Given the description of an element on the screen output the (x, y) to click on. 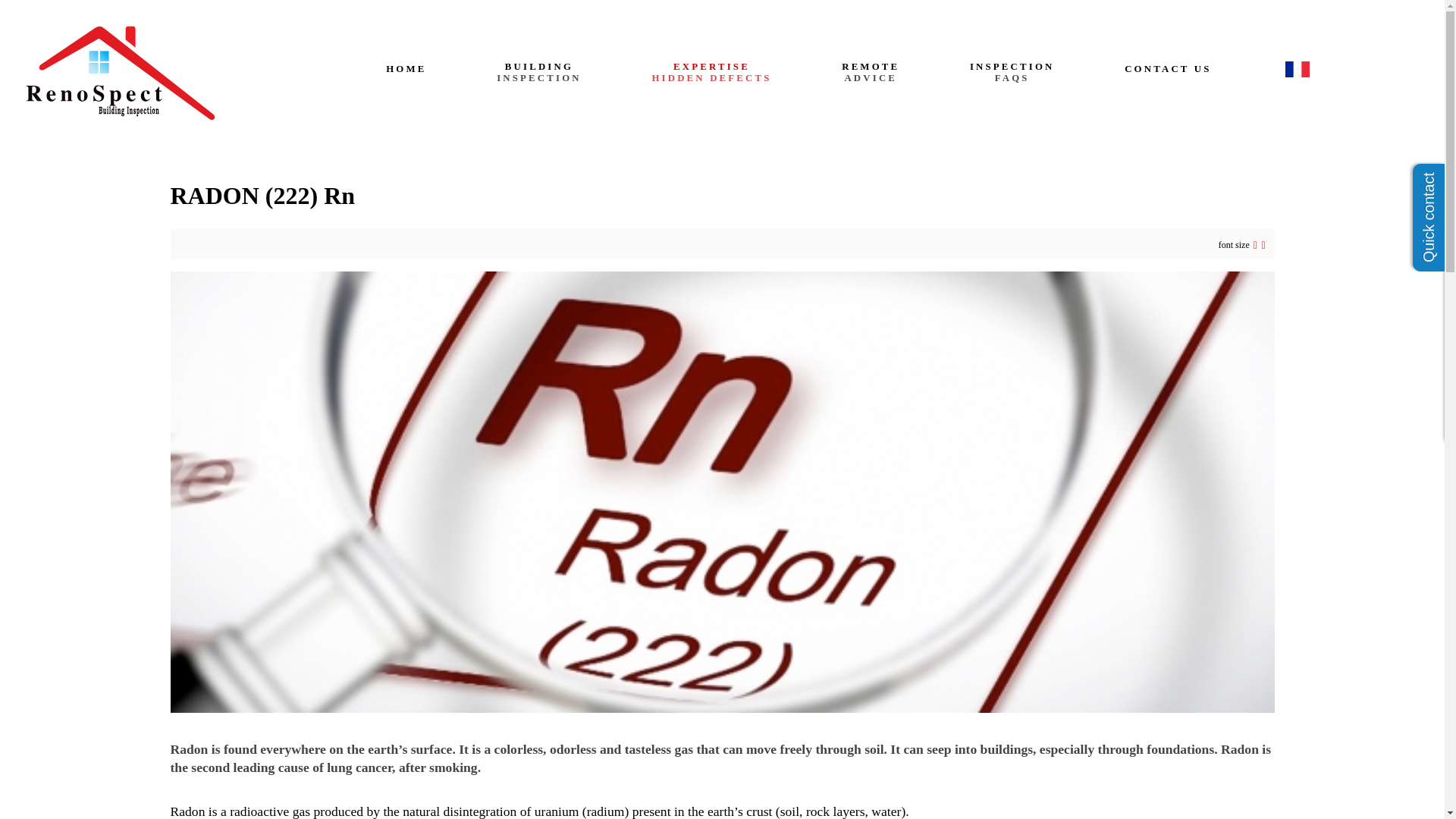
Click to preview image (711, 73)
CONTACT US (1010, 72)
HOME (144, 72)
